Given the description of an element on the screen output the (x, y) to click on. 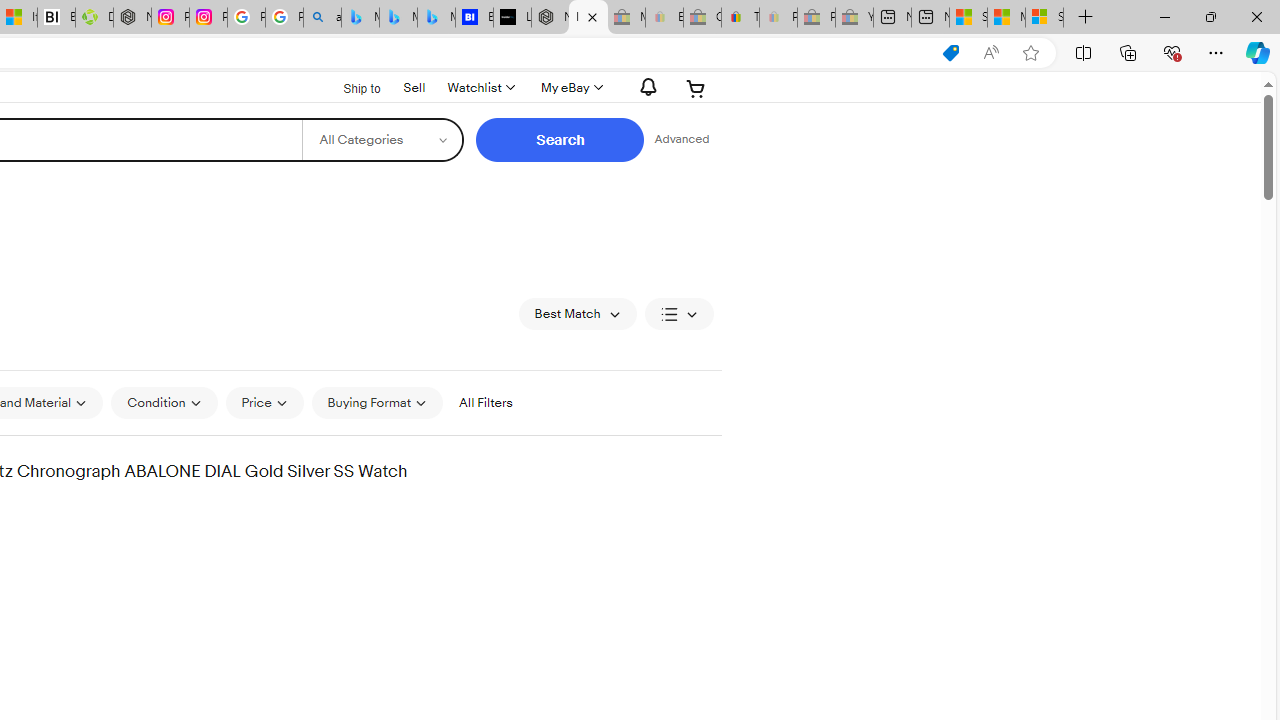
Ship to (349, 89)
Microsoft Bing Travel - Flights from Hong Kong to Bangkok (359, 17)
Advanced Search (681, 139)
Price (264, 403)
Press Room - eBay Inc. - Sleeping (815, 17)
Sort: Best Match (577, 313)
Expand Cart (696, 88)
Your shopping cart (696, 88)
Invicta products for sale | eBay (587, 17)
